Given the description of an element on the screen output the (x, y) to click on. 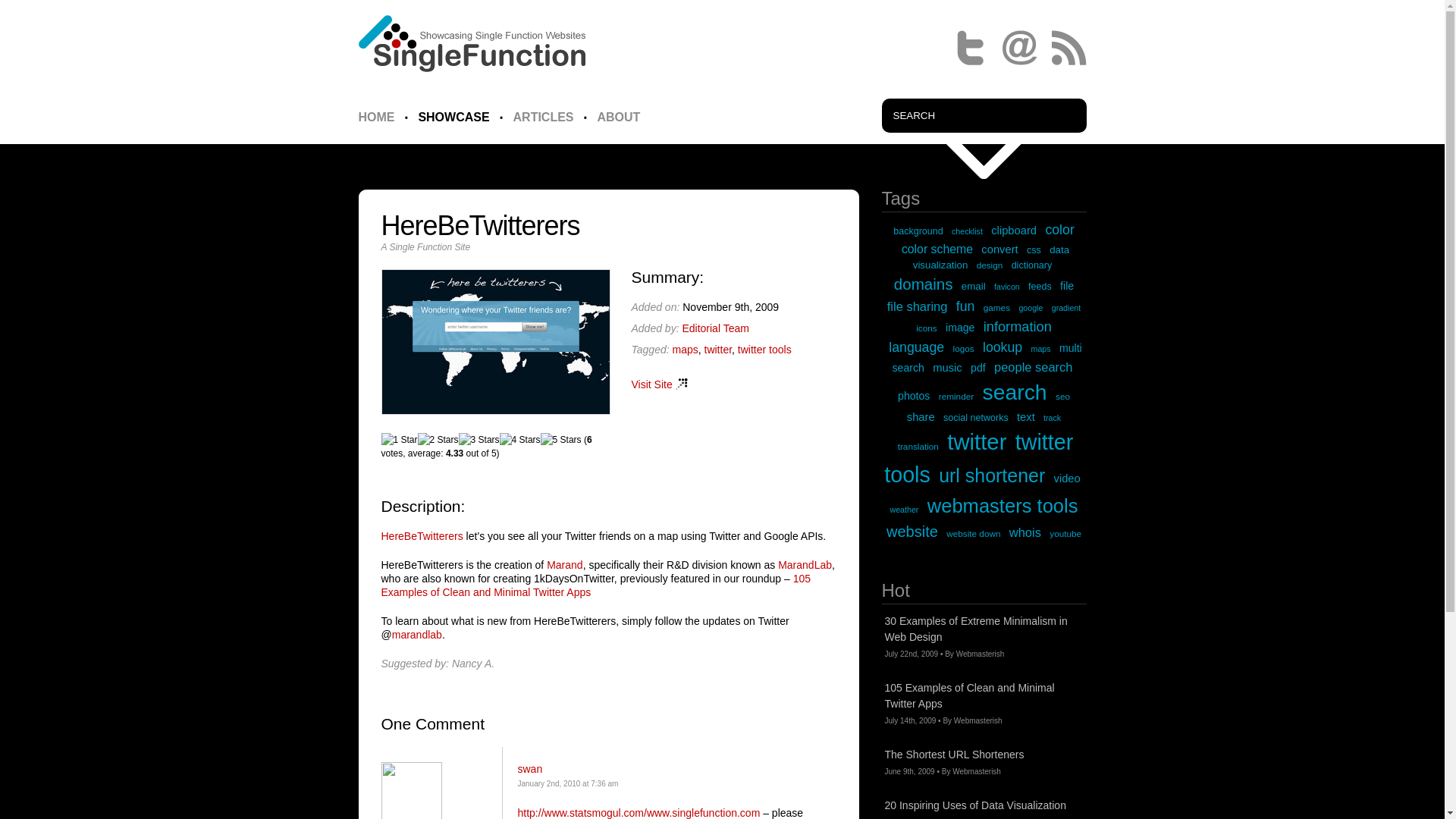
swan (528, 768)
email (973, 286)
Editorial Team (714, 328)
fun (965, 306)
ABOUT (618, 116)
domains (923, 283)
feeds (1039, 286)
ARTICLES (543, 116)
MarandLab (804, 564)
SHOWCASE (453, 116)
google (1029, 307)
Visit Site (658, 384)
1 Star (398, 439)
file sharing (916, 306)
Follow SingleFunction on Twitter! (969, 47)
